Given the description of an element on the screen output the (x, y) to click on. 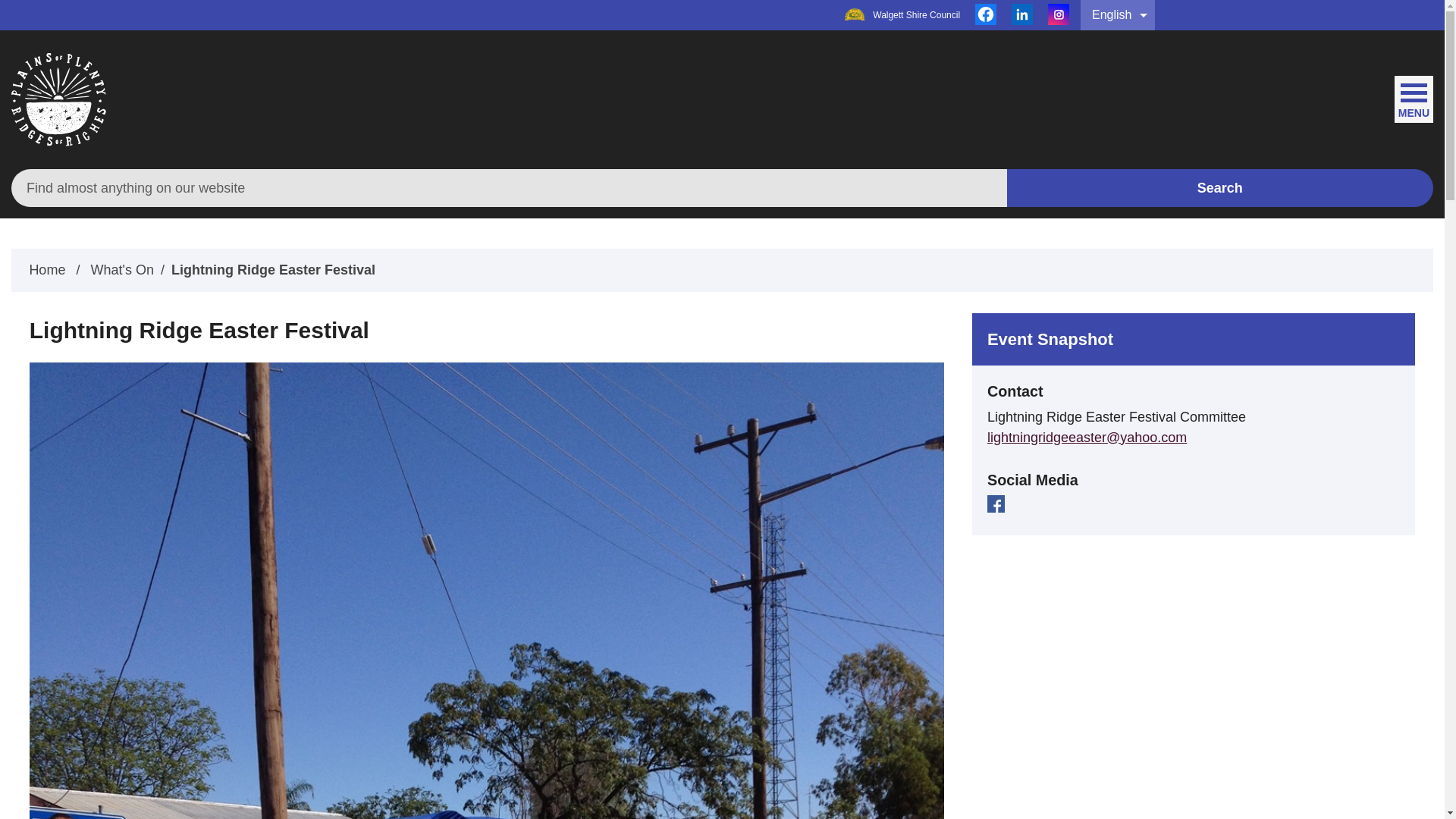
Walgett Shire Council Element type: text (902, 14)
Home - Walgett Shire Council - Logo Element type: text (58, 99)
Instagram Element type: text (1058, 14)
Your current preferred language is
English Element type: text (1117, 15)
Search Element type: text (1220, 188)
What's On Element type: text (121, 269)
MENU Element type: text (1413, 95)
Home Element type: text (46, 269)
Facebook Element type: text (985, 14)
lightningridgeeaster@yahoo.com Element type: text (1086, 437)
LinkedIn Element type: text (1021, 14)
